Given the description of an element on the screen output the (x, y) to click on. 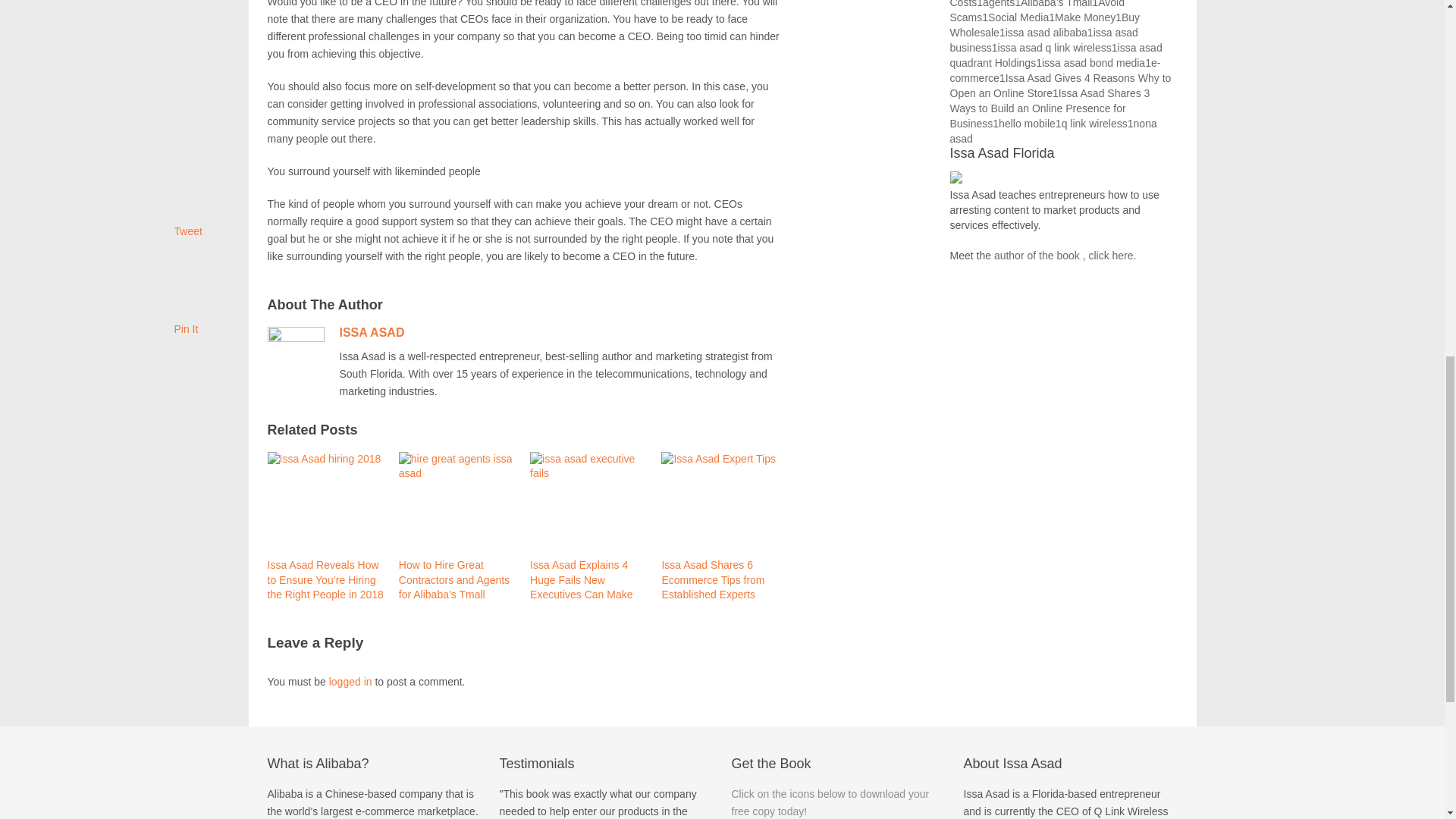
logged in (350, 681)
ISSA ASAD (371, 332)
